Given the description of an element on the screen output the (x, y) to click on. 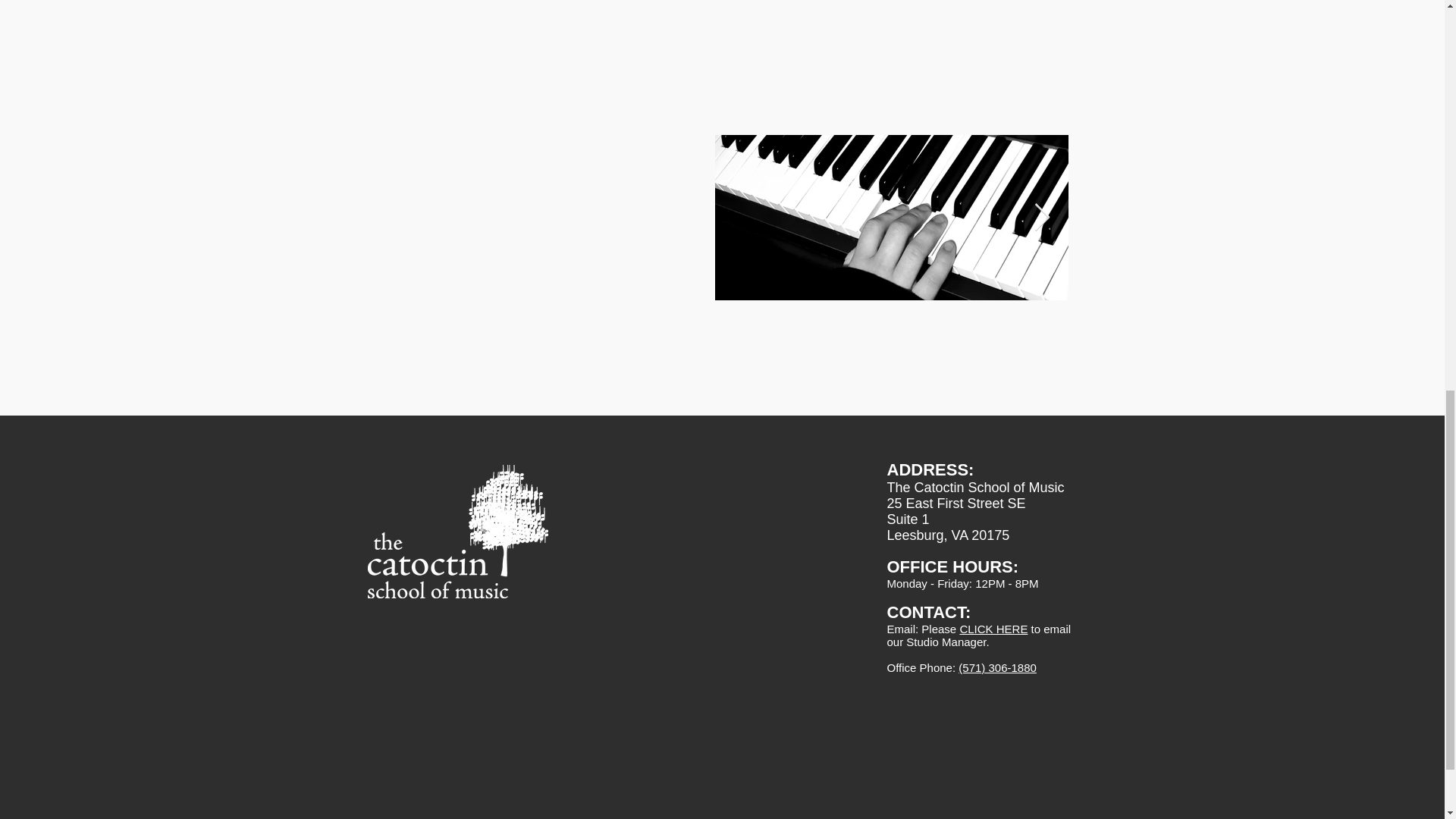
Email: Please CLICK HERE to email our Studio Manager. (978, 635)
